Given the description of an element on the screen output the (x, y) to click on. 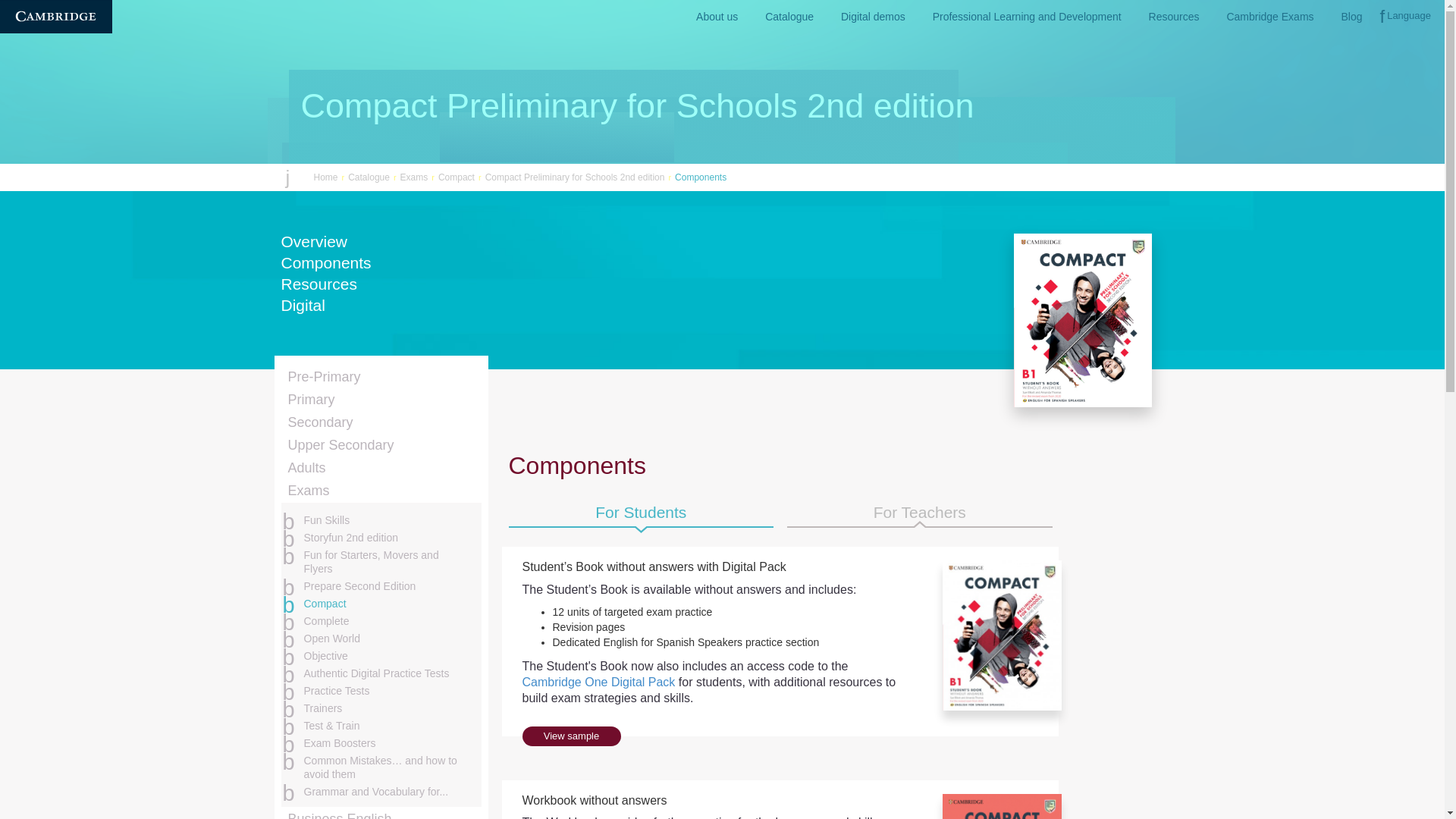
About us (716, 16)
Catalogue (789, 16)
Cambridge University Press (56, 16)
Language (1405, 16)
